Given the description of an element on the screen output the (x, y) to click on. 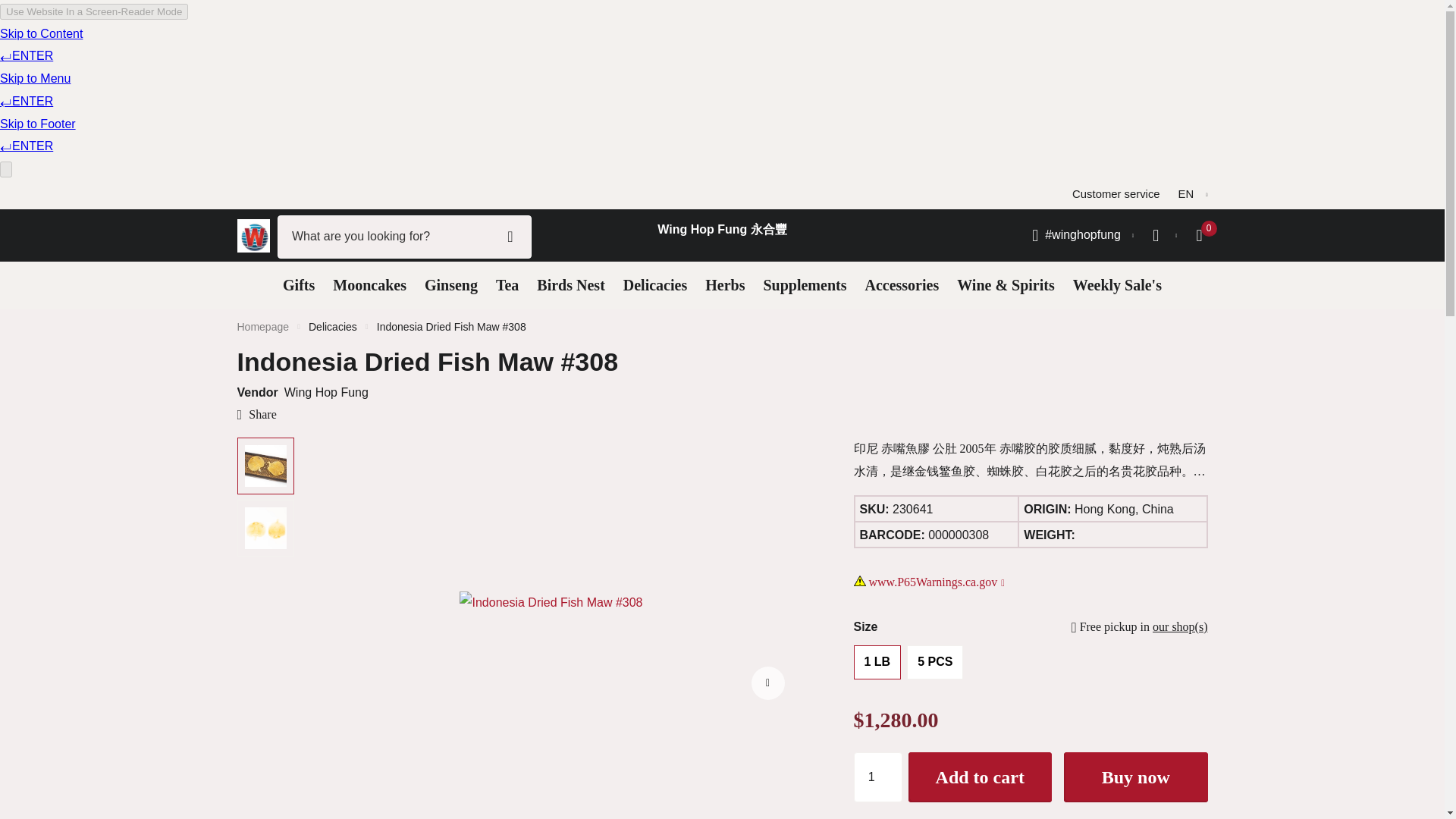
Customer service (1114, 194)
Zoeken (510, 236)
Ginseng (451, 285)
EN (1192, 194)
1 (877, 777)
PROP 65 Warning (936, 581)
Home (261, 326)
Mooncakes (369, 285)
